Given the description of an element on the screen output the (x, y) to click on. 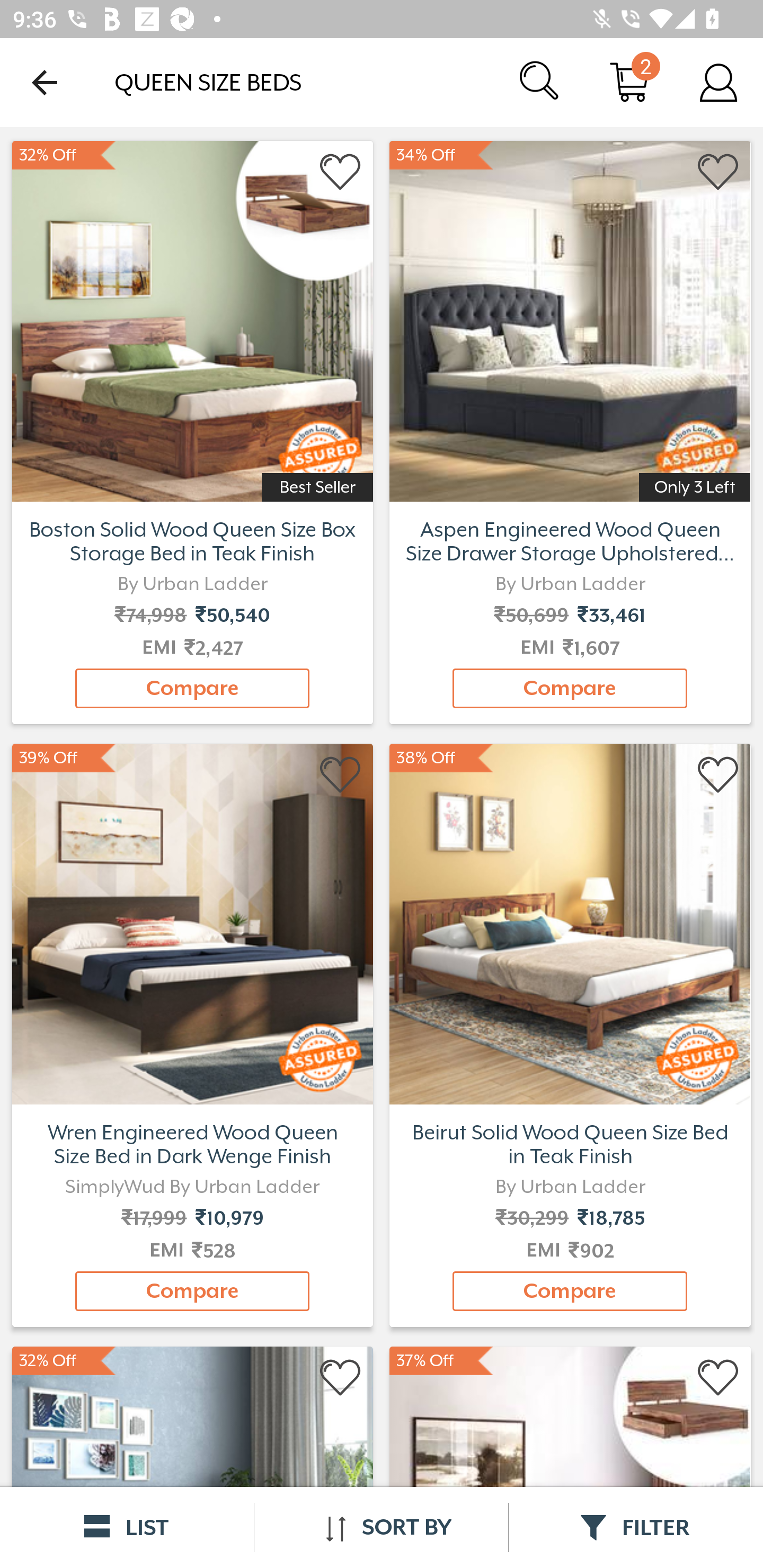
Navigate up (44, 82)
Search (540, 81)
Cart (629, 81)
Account Details (718, 81)
 (341, 172)
 (718, 172)
Compare (192, 687)
Compare (569, 687)
 (341, 775)
 (718, 775)
Compare (192, 1290)
Compare (569, 1290)
 (341, 1377)
 (718, 1377)
 LIST (127, 1527)
SORT BY (381, 1527)
 FILTER (635, 1527)
